Given the description of an element on the screen output the (x, y) to click on. 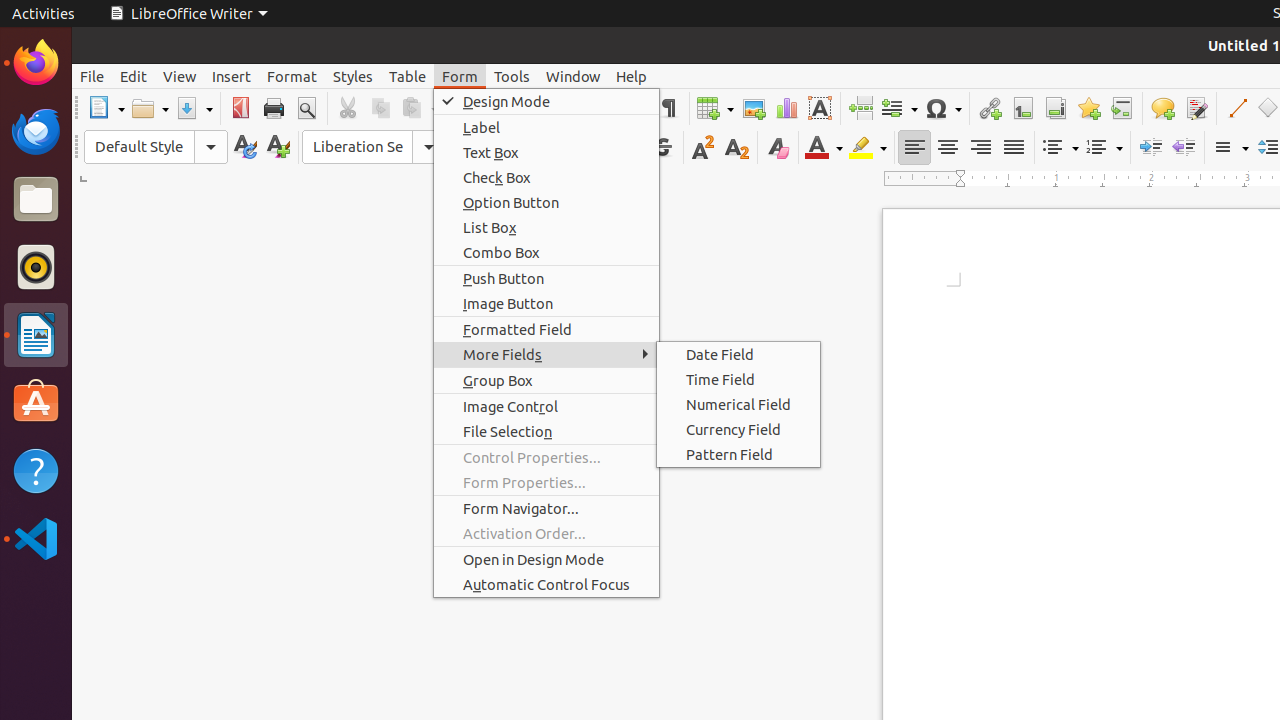
Form Element type: menu (460, 76)
Paragraph Style Element type: combo-box (156, 147)
Cross-reference Element type: push-button (1121, 108)
Image Control Element type: check-menu-item (546, 406)
Font Color Element type: push-button (824, 147)
